Given the description of an element on the screen output the (x, y) to click on. 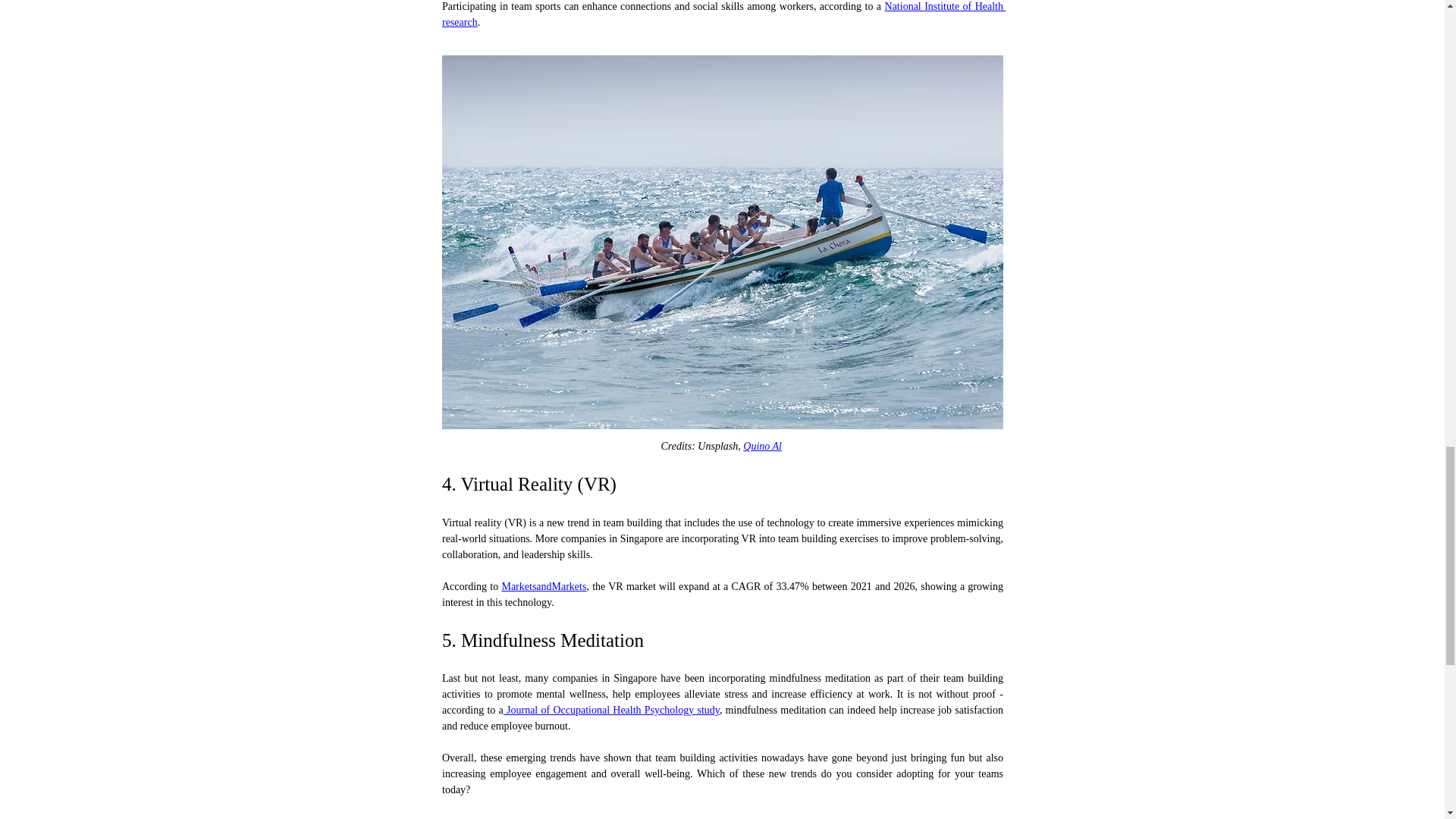
National Institute of Health research (723, 13)
Quino Al (761, 446)
 Journal of Occupational Health Psychology study (610, 709)
MarketsandMarkets (543, 586)
